Given the description of an element on the screen output the (x, y) to click on. 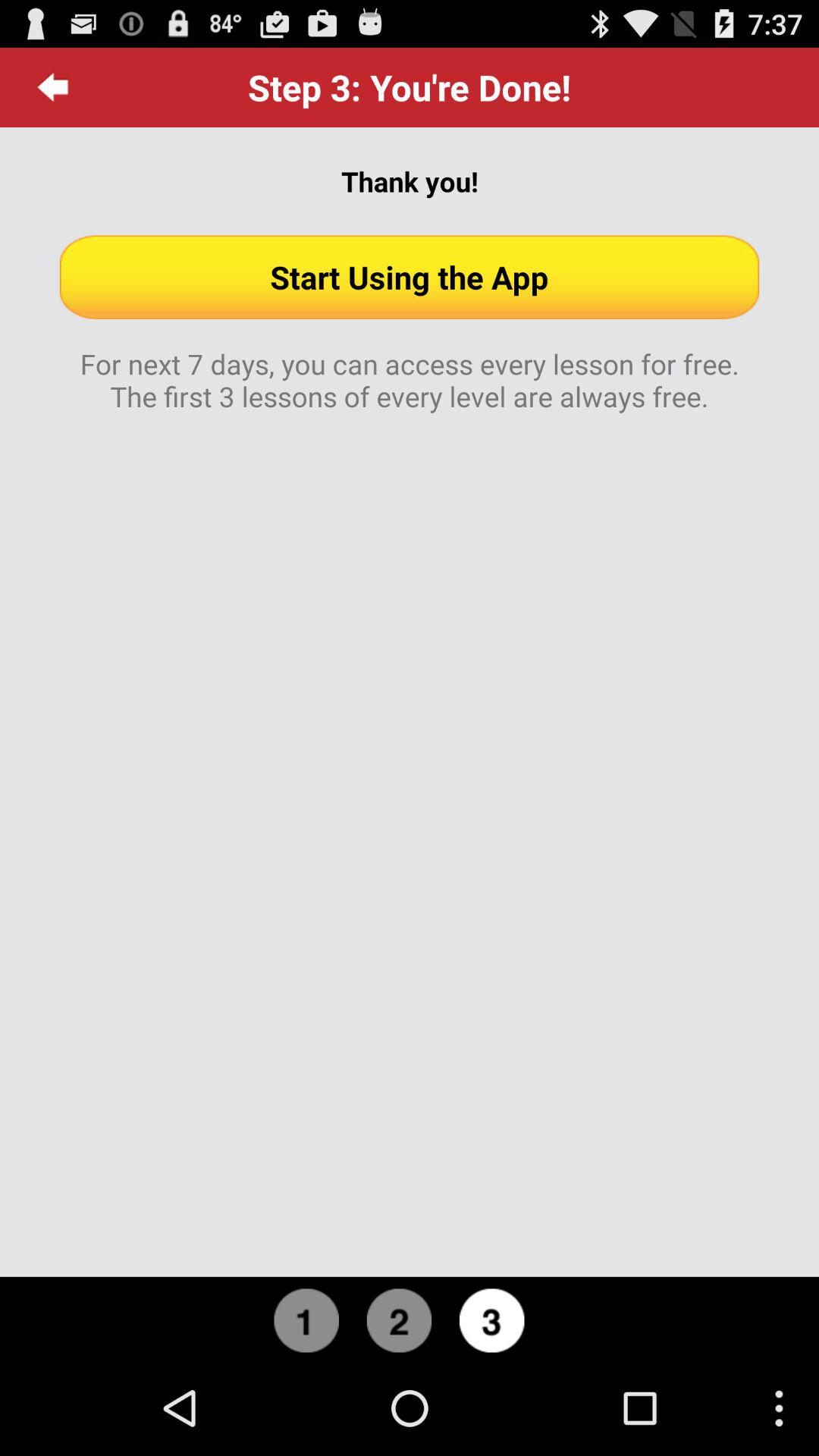
select start using the item (409, 277)
